Given the description of an element on the screen output the (x, y) to click on. 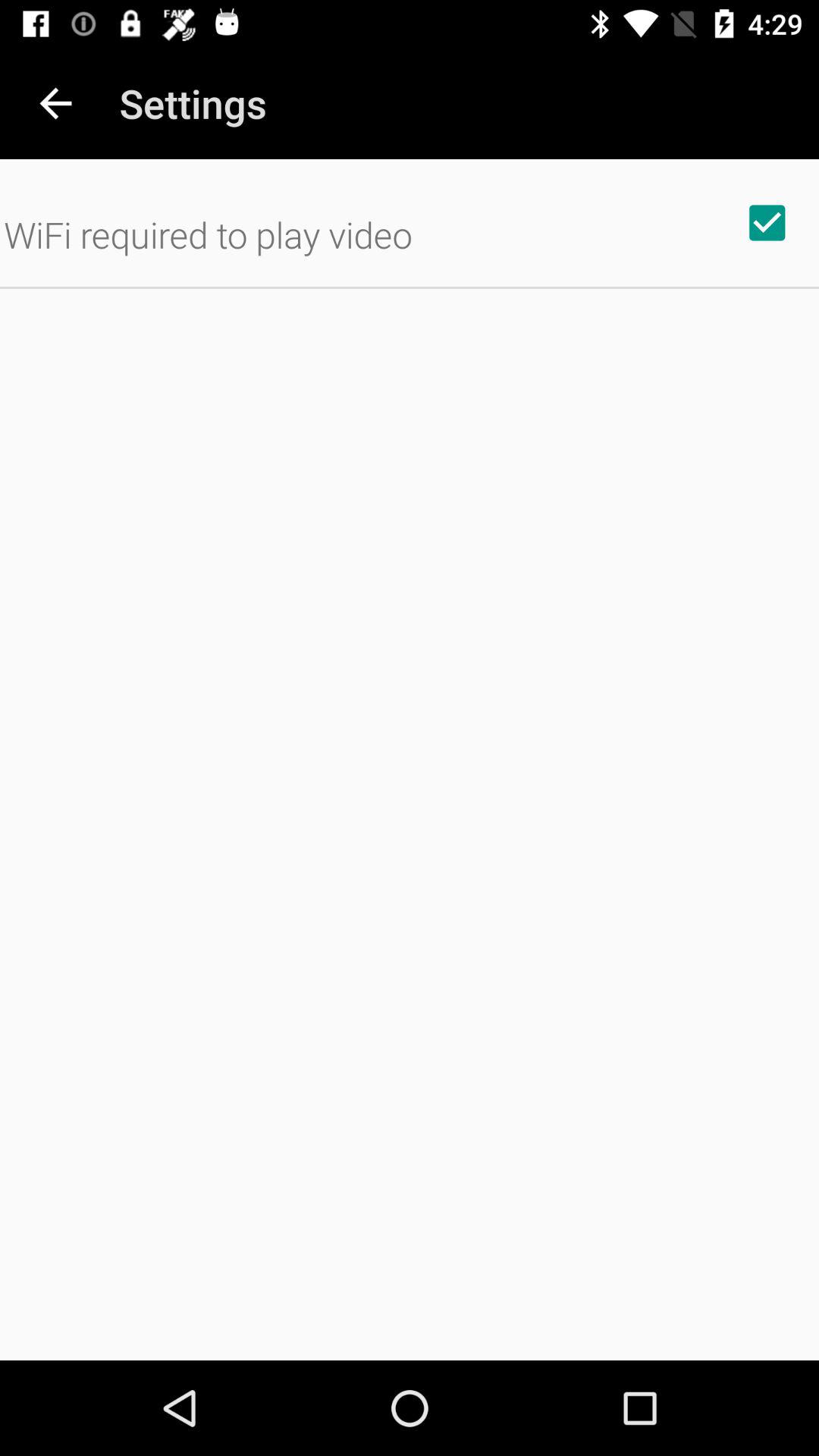
go to previous (55, 103)
